Given the description of an element on the screen output the (x, y) to click on. 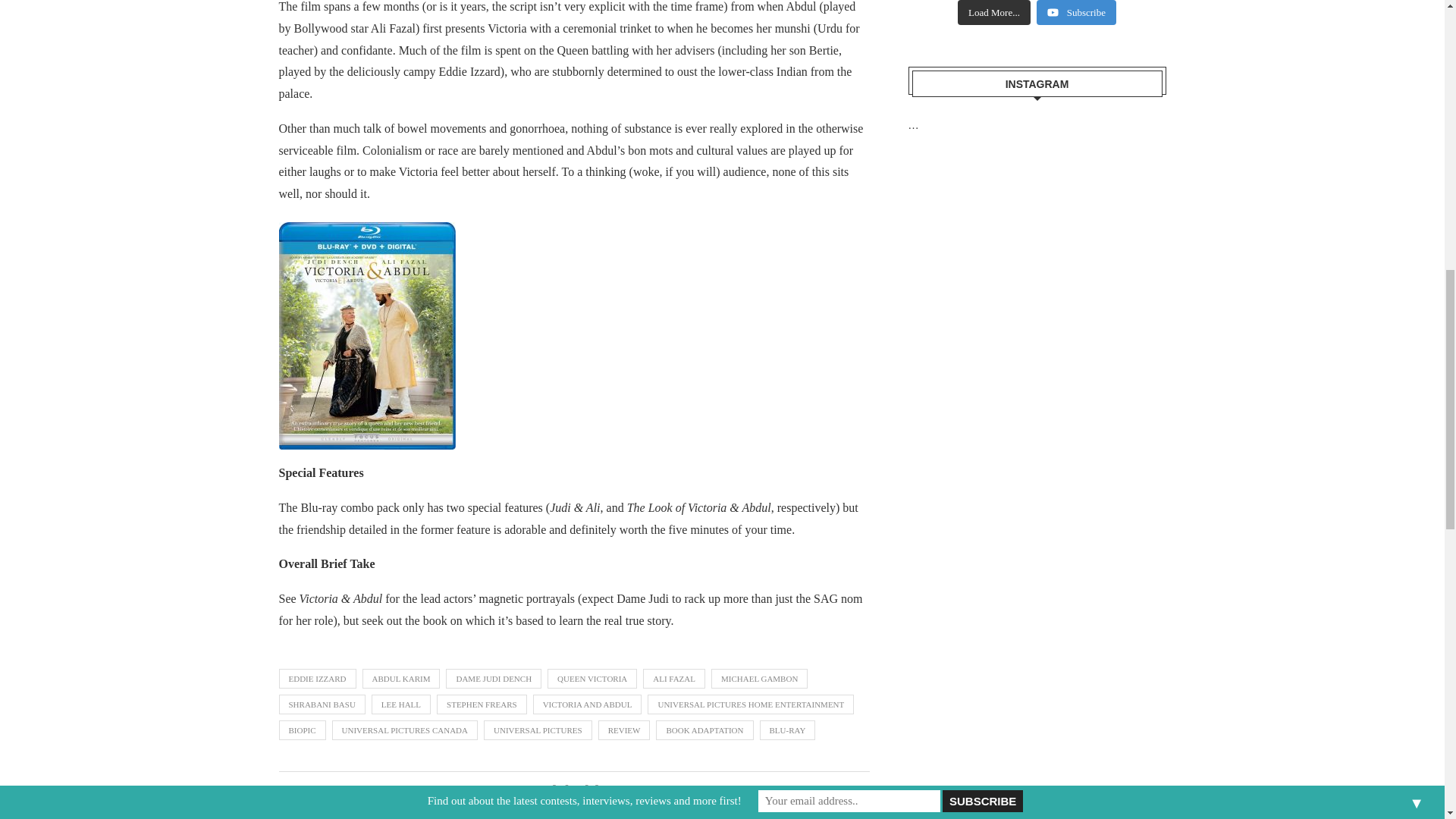
DAME JUDI DENCH (493, 678)
ABDUL KARIM (401, 678)
ALI FAZAL (673, 678)
SHRABANI BASU (322, 704)
LEE HALL (400, 704)
MICHAEL GAMBON (759, 678)
EDDIE IZZARD (317, 678)
QUEEN VICTORIA (592, 678)
